Given the description of an element on the screen output the (x, y) to click on. 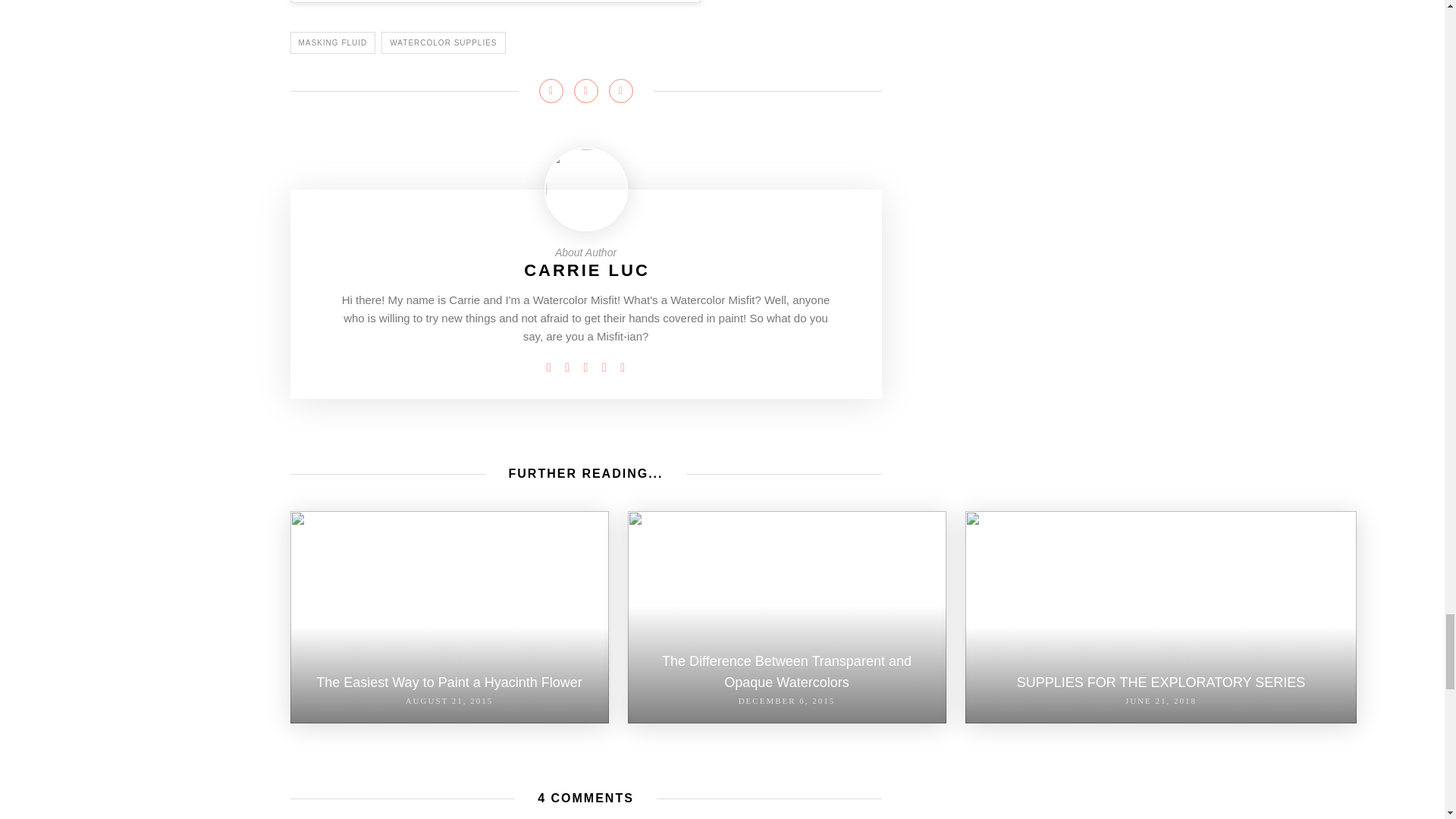
Posts by Carrie Luc (586, 270)
